Given the description of an element on the screen output the (x, y) to click on. 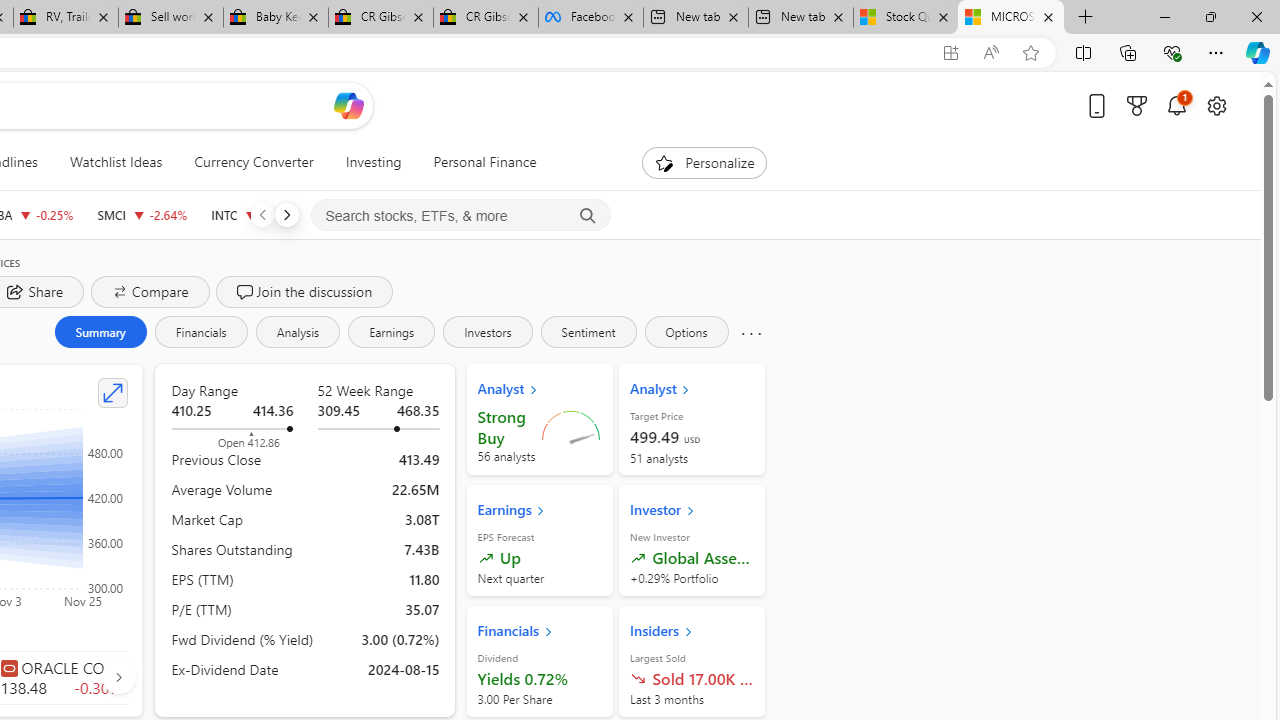
Search stocks, ETFs, & more (461, 215)
AutomationID: finance_carousel_navi_right (118, 677)
Investors (487, 331)
Summary (100, 331)
Options (686, 331)
Sentiment (588, 331)
Baby Keepsakes & Announcements for sale | eBay (275, 17)
Currency Converter (253, 162)
